Given the description of an element on the screen output the (x, y) to click on. 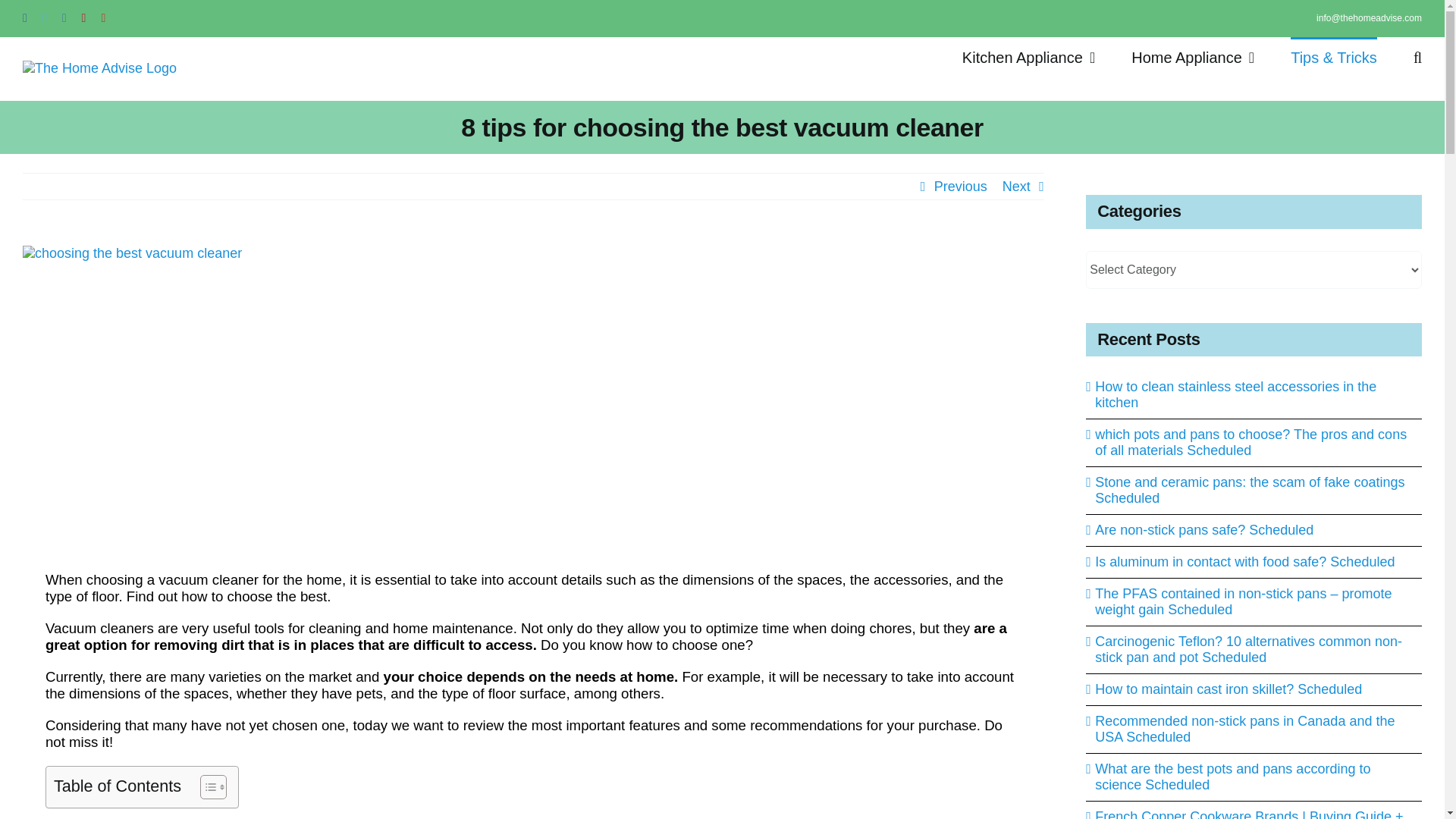
Kitchen Appliance (1028, 55)
Home Appliance (1192, 55)
